Given the description of an element on the screen output the (x, y) to click on. 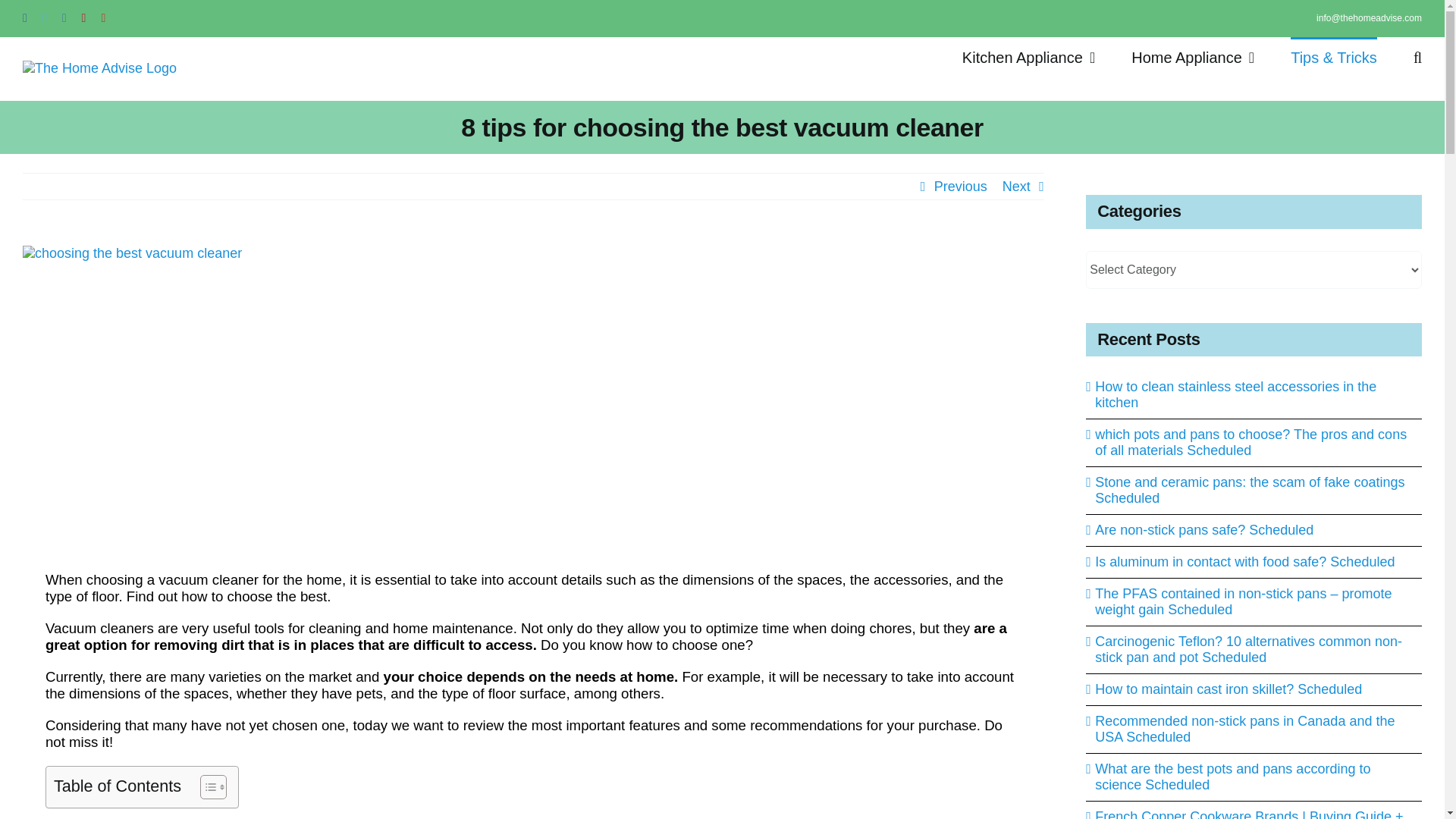
Kitchen Appliance (1028, 55)
Home Appliance (1192, 55)
